Given the description of an element on the screen output the (x, y) to click on. 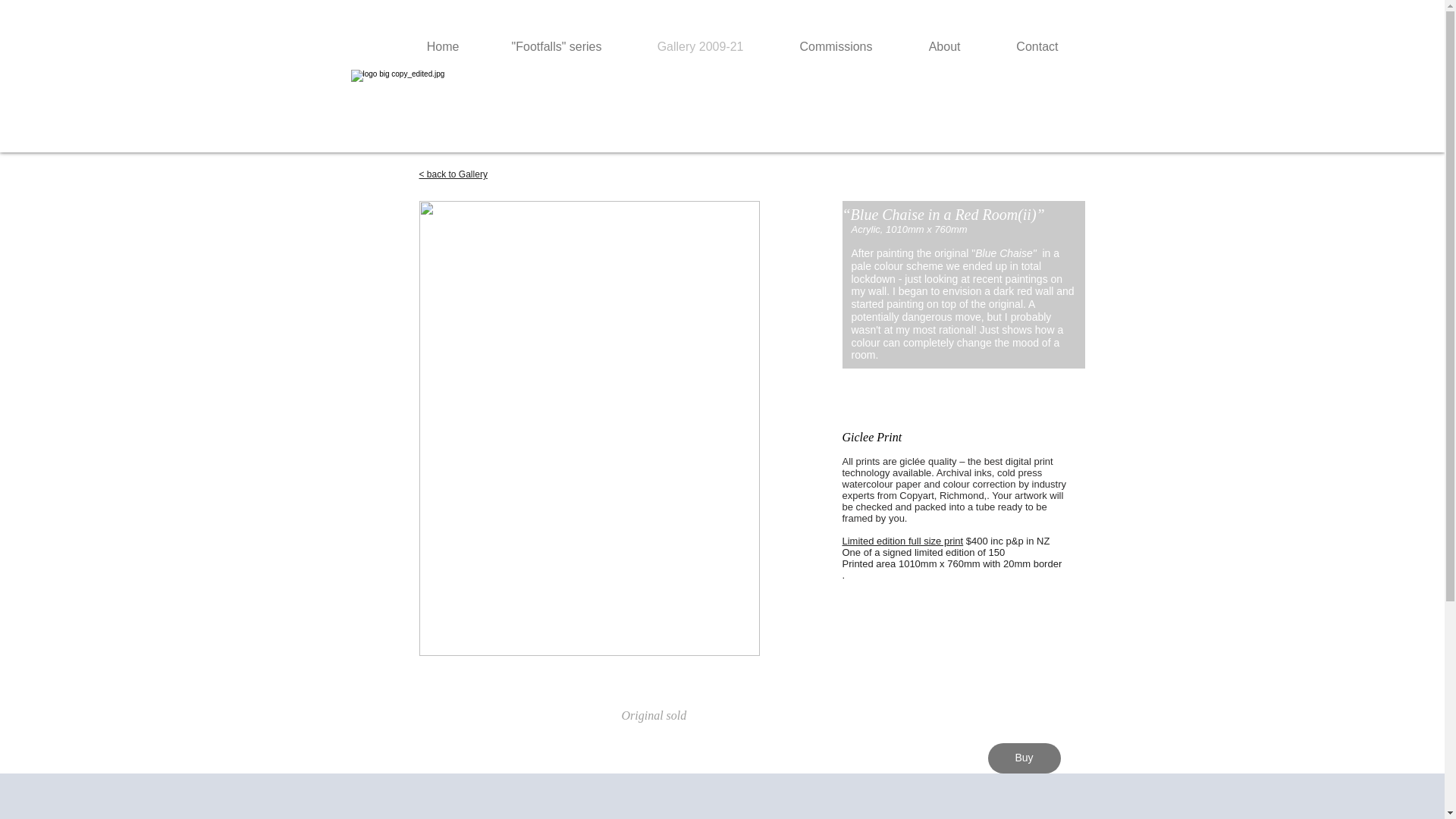
"Footfalls" series (541, 46)
Gallery 2009-21 (683, 46)
Home (425, 46)
